Given the description of an element on the screen output the (x, y) to click on. 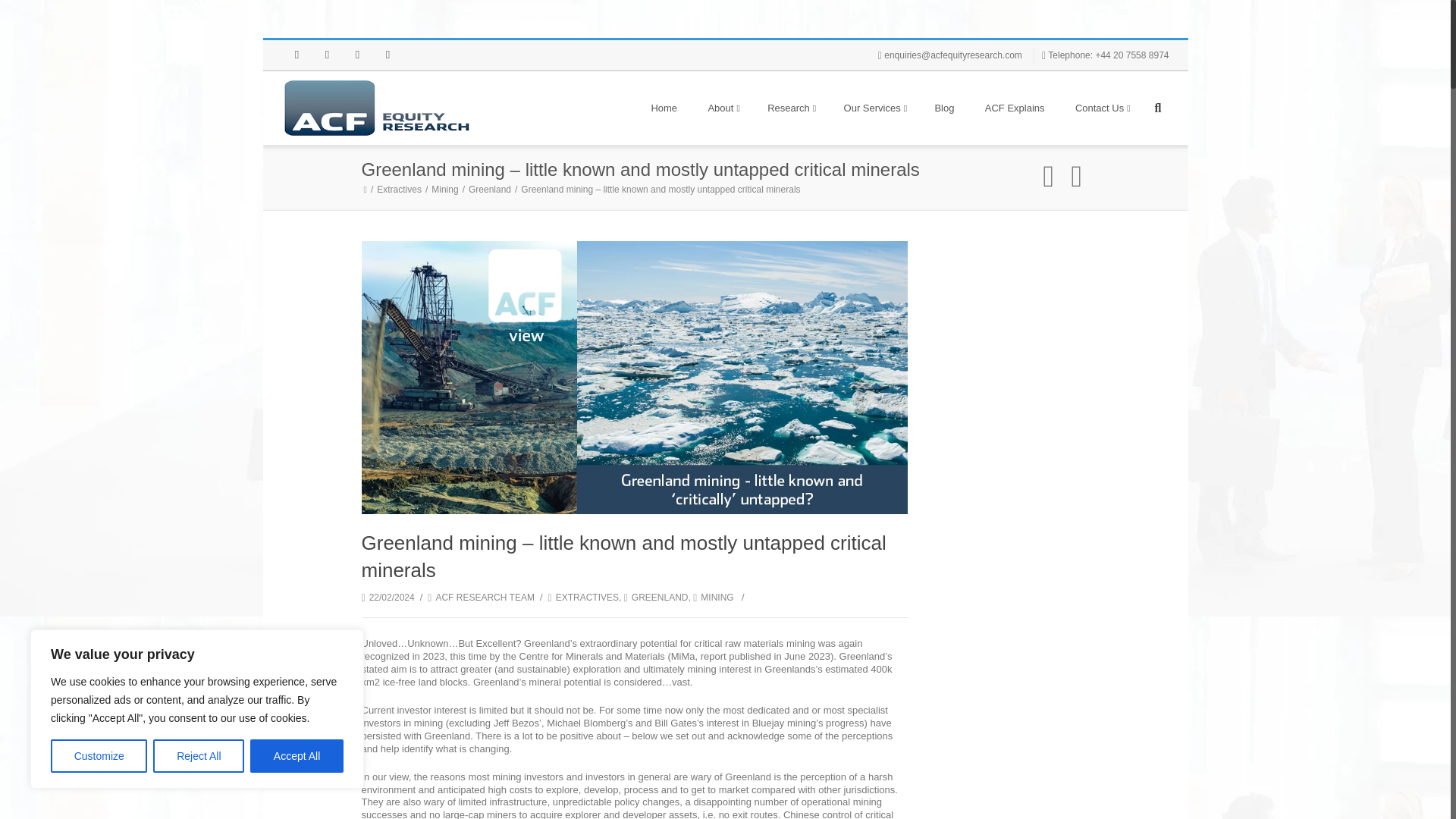
Reject All (198, 756)
Greenland (491, 189)
Accept All (296, 756)
Posts by ACF Research Team (484, 597)
View all posts in Extractives (583, 597)
View all posts in Greenland (656, 597)
Mining (445, 189)
View all posts in Mining (713, 597)
Customize (98, 756)
Extractives (401, 189)
